Given the description of an element on the screen output the (x, y) to click on. 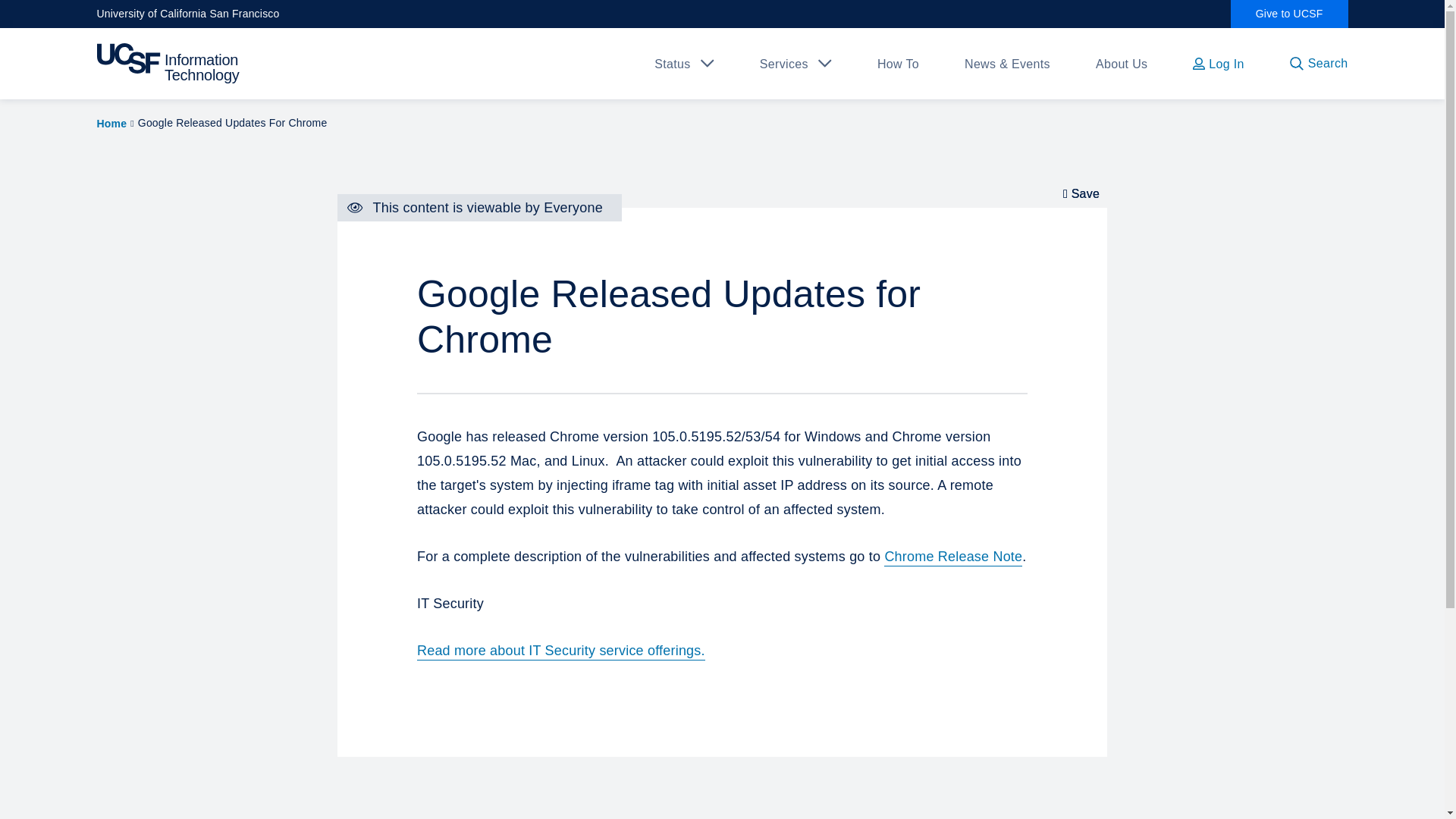
About Us (1122, 63)
Services (784, 63)
Status (671, 63)
Read more about IT Security service offerings. (560, 650)
Home (112, 122)
About UCSF IT (1122, 63)
Log In (1217, 63)
Give to UCSF (1289, 13)
Chrome Release Note (952, 556)
